Given the description of an element on the screen output the (x, y) to click on. 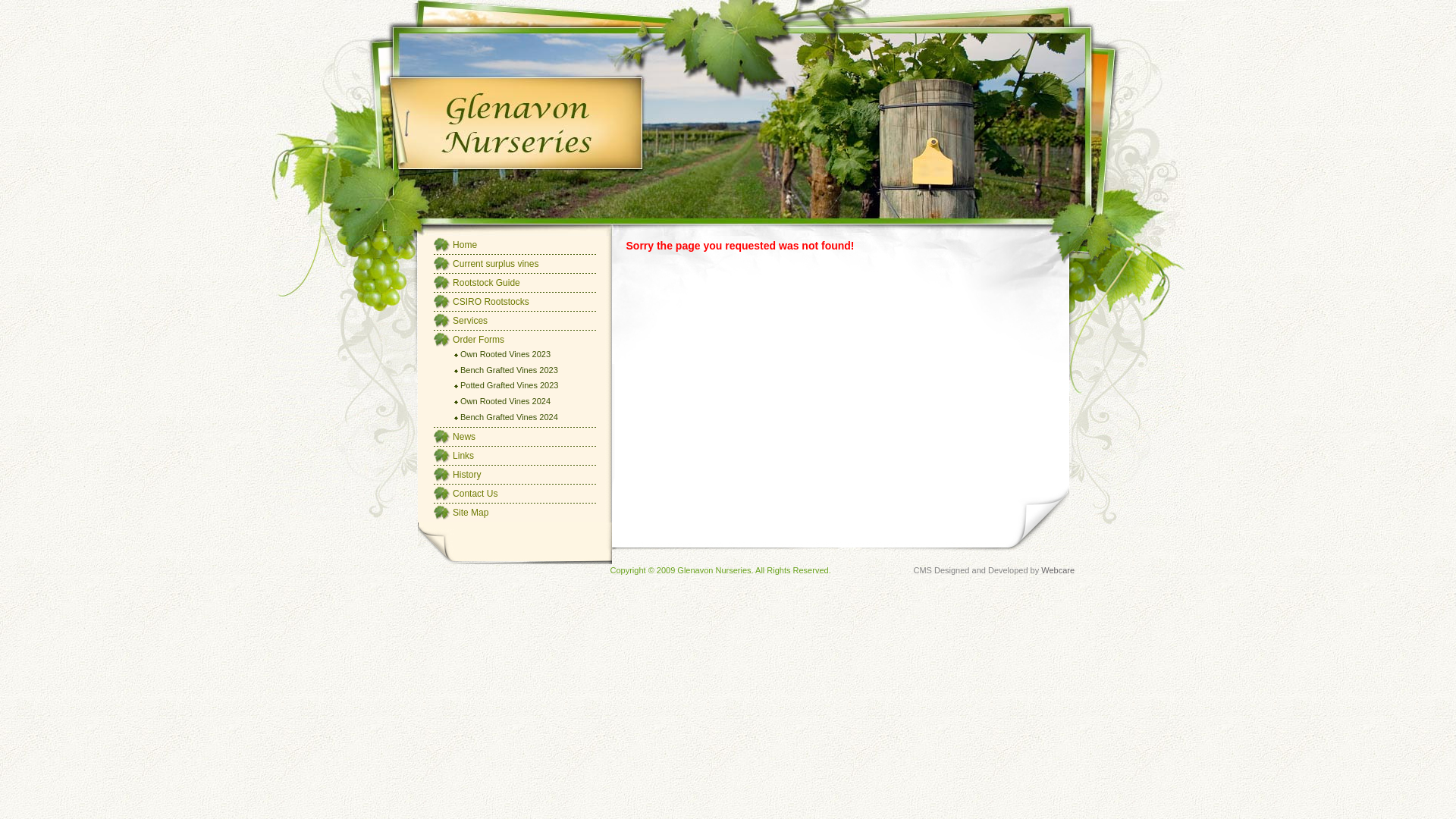
Links Element type: text (462, 456)
Rootstock Guide Element type: text (486, 282)
Site Map Element type: text (470, 513)
Bench Grafted Vines 2024 Element type: text (509, 418)
History Element type: text (466, 475)
Own Rooted Vines 2024 Element type: text (505, 402)
News Element type: text (463, 437)
Services Element type: text (469, 320)
Current surplus vines Element type: text (495, 263)
Own Rooted Vines 2023 Element type: text (505, 355)
CMS Designed and Developed by Webcare Element type: text (993, 569)
Bench Grafted Vines 2023 Element type: text (509, 371)
Contact Us Element type: text (474, 494)
Home Element type: text (464, 244)
CSIRO Rootstocks Element type: text (490, 301)
Potted Grafted Vines 2023 Element type: text (509, 386)
Order Forms Element type: text (478, 339)
